Given the description of an element on the screen output the (x, y) to click on. 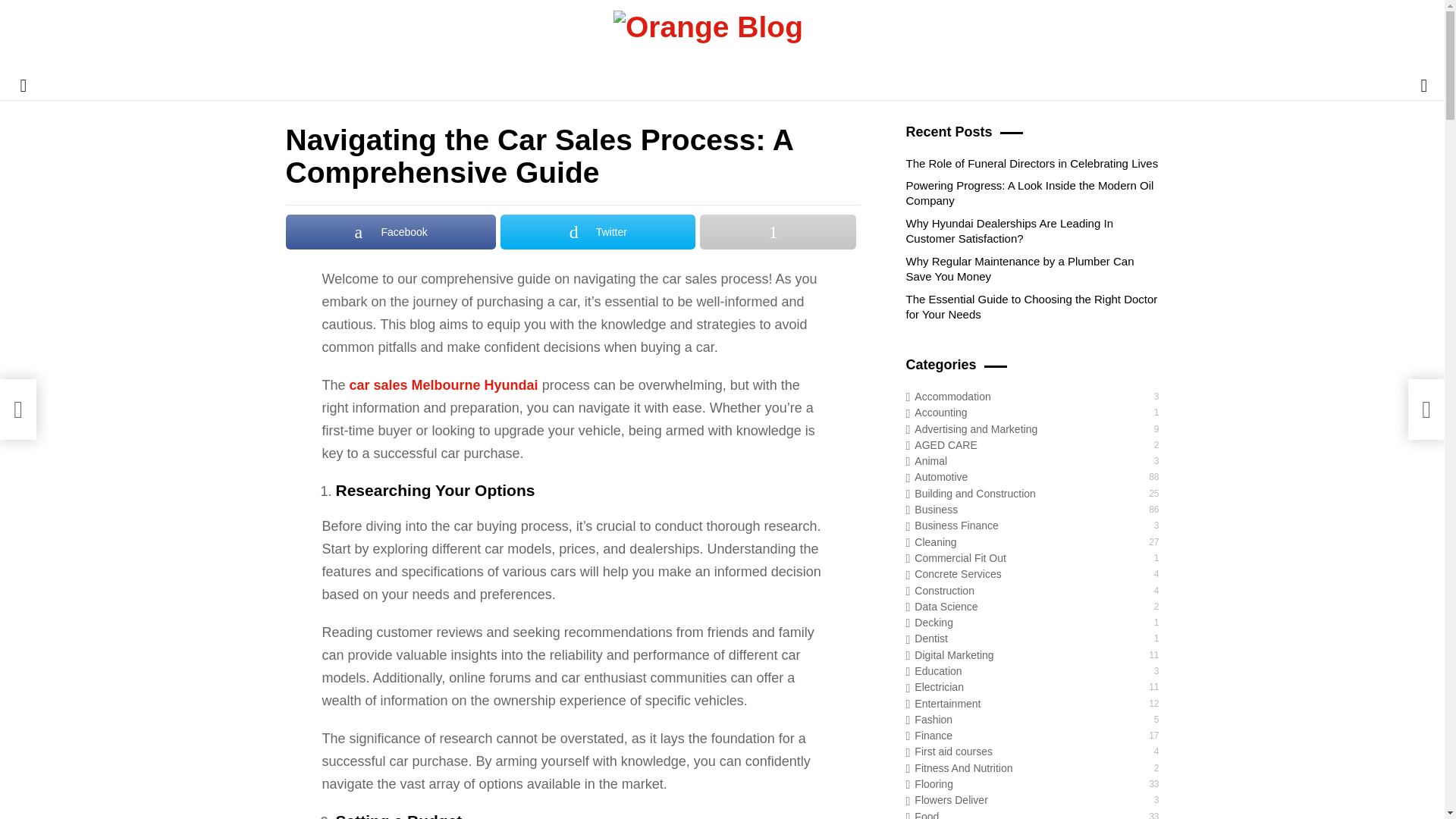
Menu (22, 85)
car sales Melbourne Hyundai (443, 385)
Twitter (597, 231)
car sales Melbourne Hyundai (443, 385)
Facebook (390, 231)
